Given the description of an element on the screen output the (x, y) to click on. 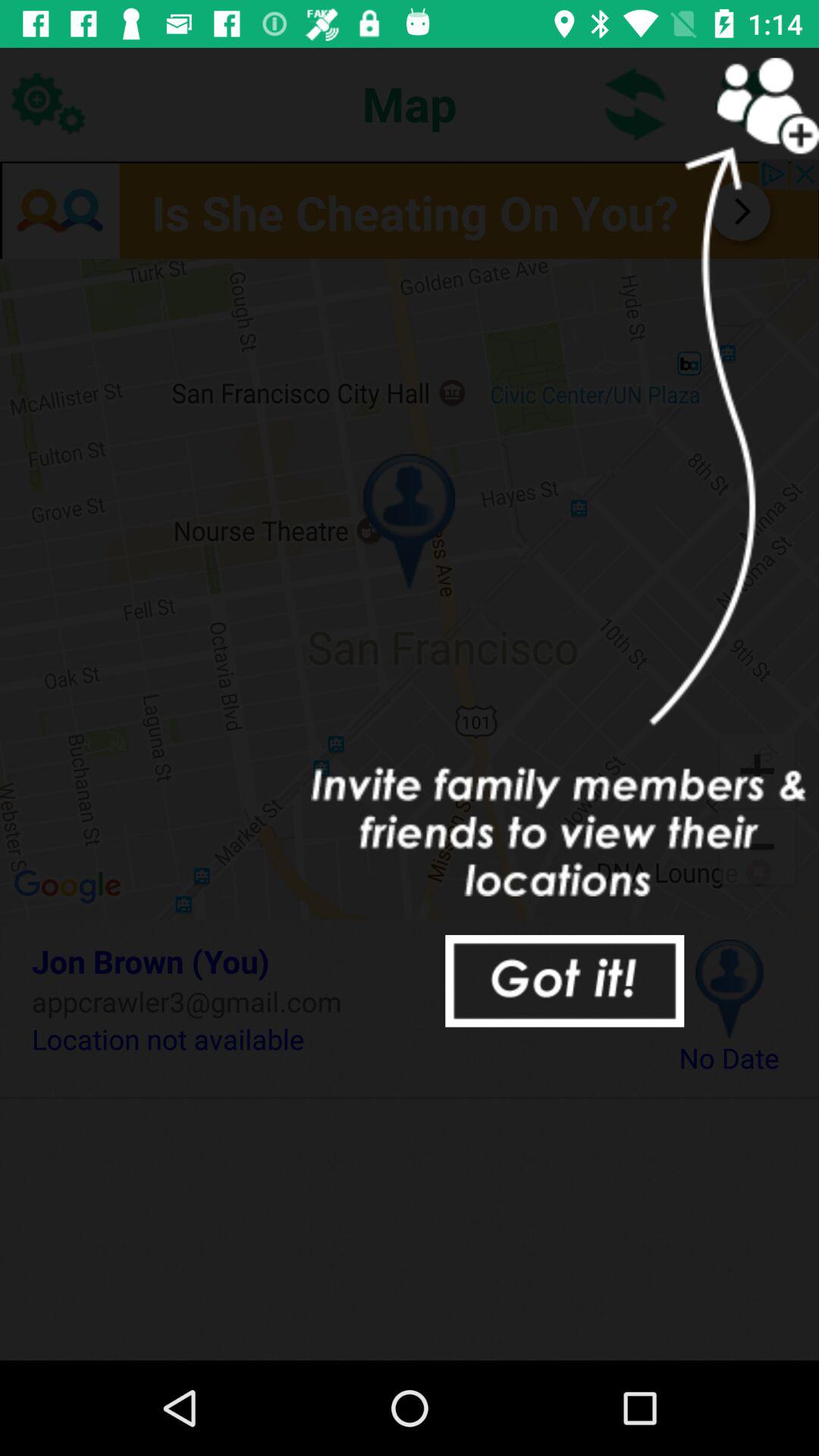
select the item next to no date item (332, 1038)
